Given the description of an element on the screen output the (x, y) to click on. 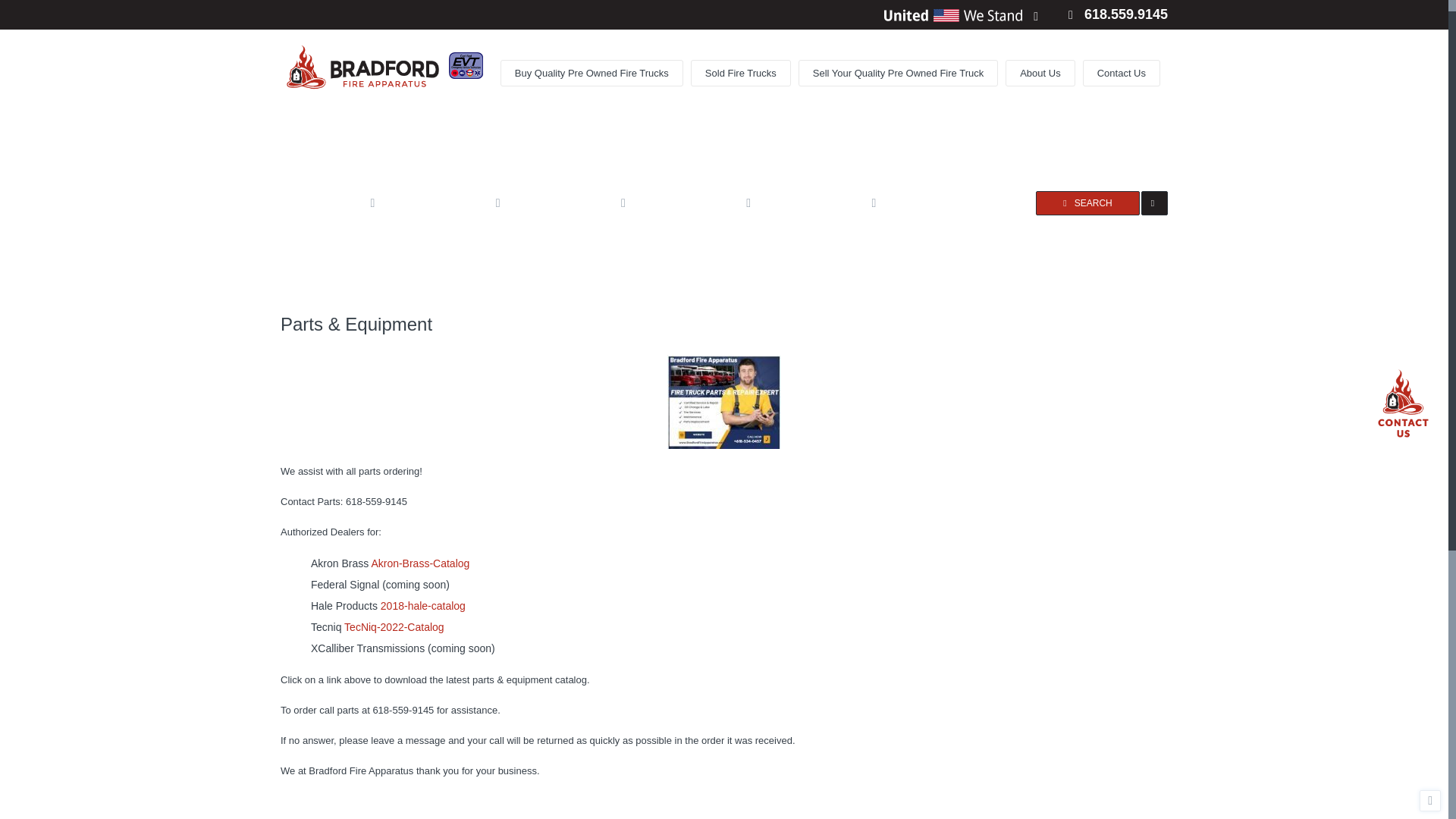
United We Stand (952, 15)
Sold Fire Trucks (740, 72)
Sell Your Quality Pre Owned Fire Truck (897, 72)
Certified Emergency Vehicle Technician (465, 65)
TecNiq-2022-Catalog (393, 626)
Contact Us (1121, 72)
SEARCH (1087, 202)
Bradford Fire Apparatus (364, 67)
About Us (1040, 72)
618.559.9145 (1117, 14)
